Given the description of an element on the screen output the (x, y) to click on. 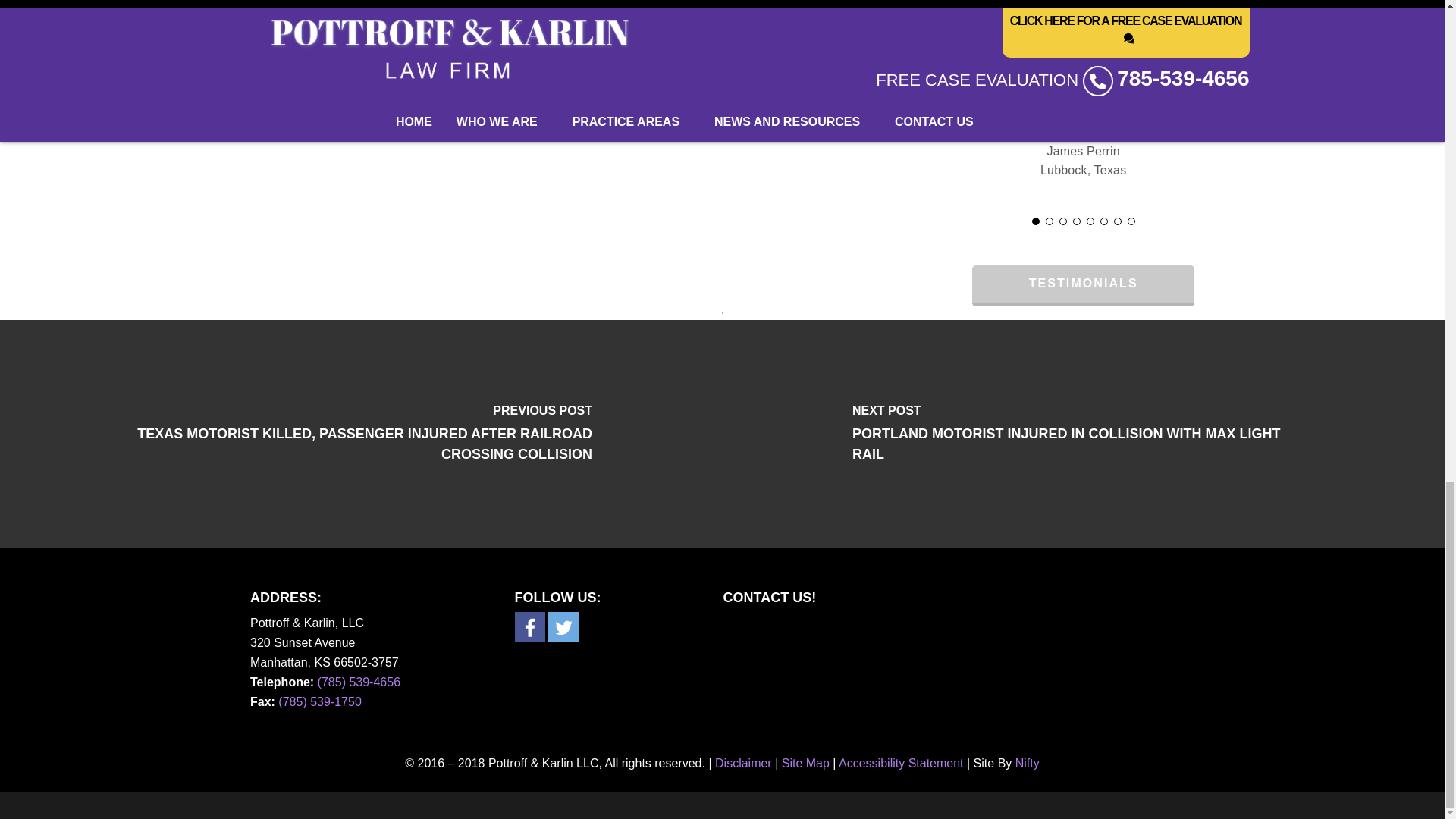
Contact form (949, 676)
